Given the description of an element on the screen output the (x, y) to click on. 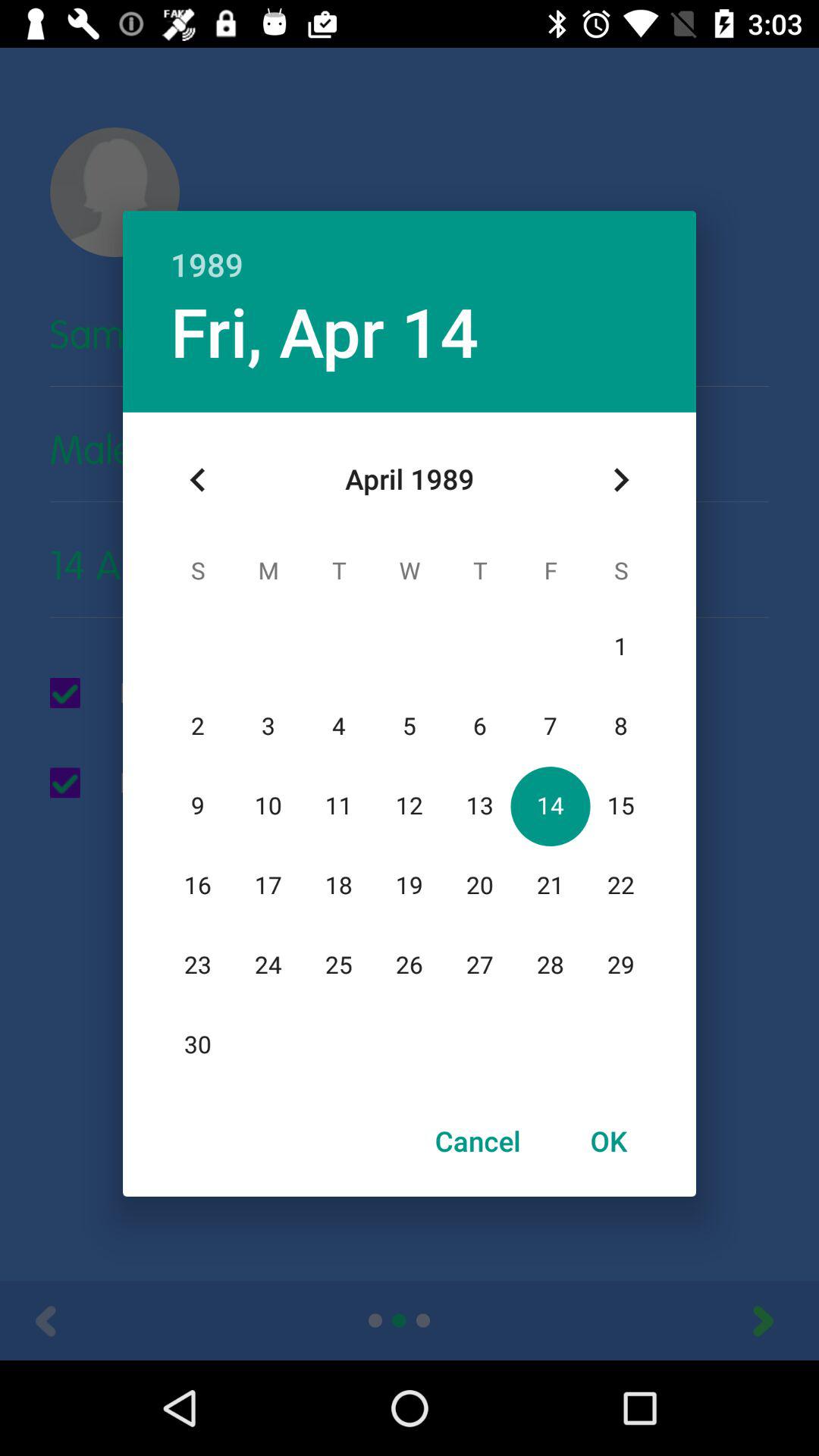
choose the item above ok icon (620, 479)
